Given the description of an element on the screen output the (x, y) to click on. 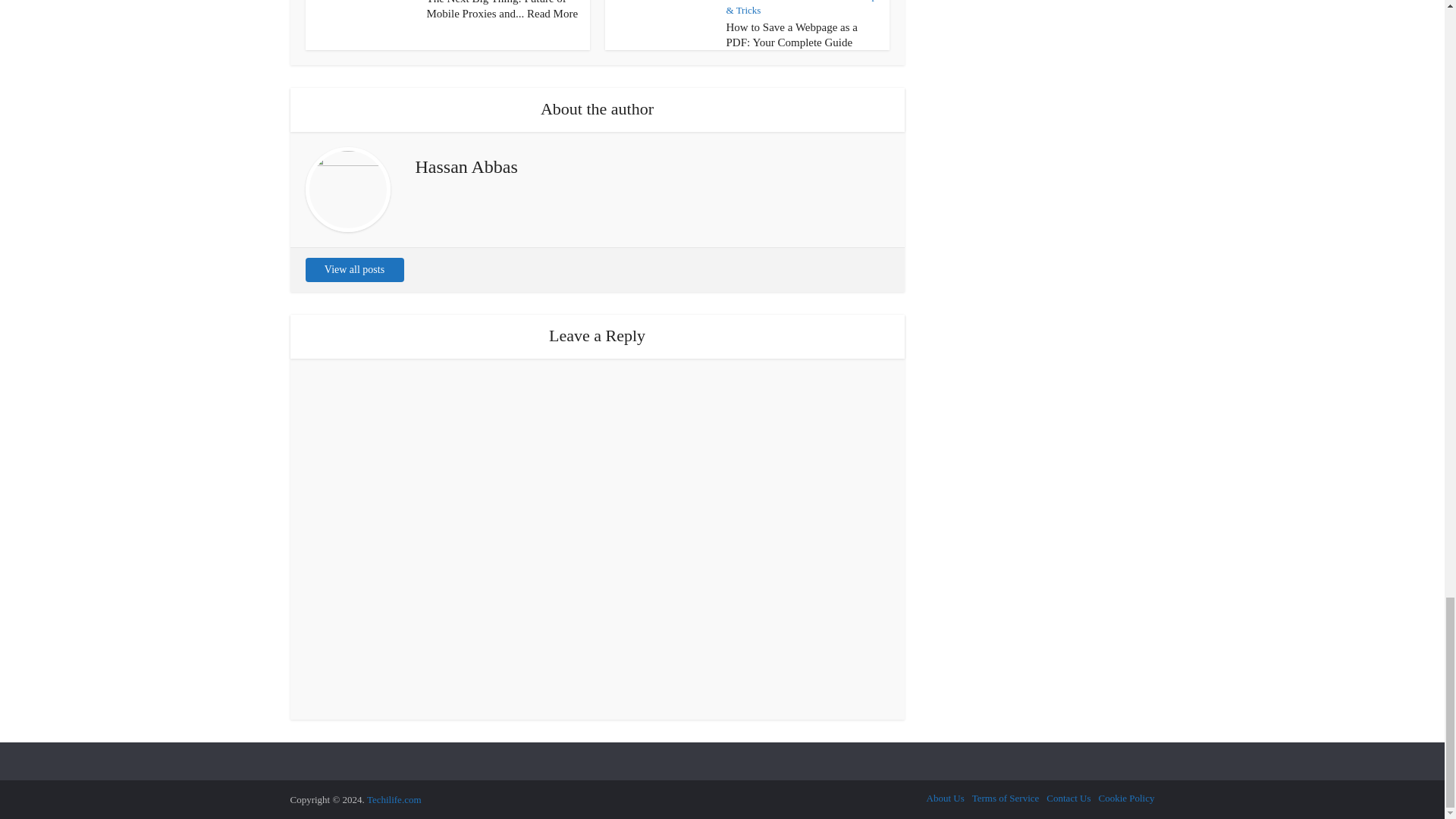
How to Save a Webpage as a PDF: Your Complete Guide (791, 34)
